Given the description of an element on the screen output the (x, y) to click on. 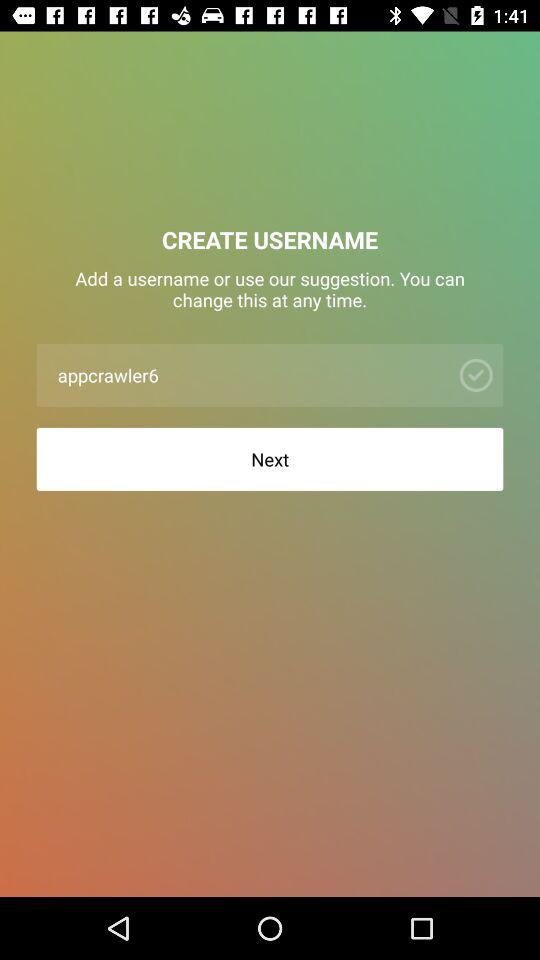
turn off next icon (269, 458)
